Given the description of an element on the screen output the (x, y) to click on. 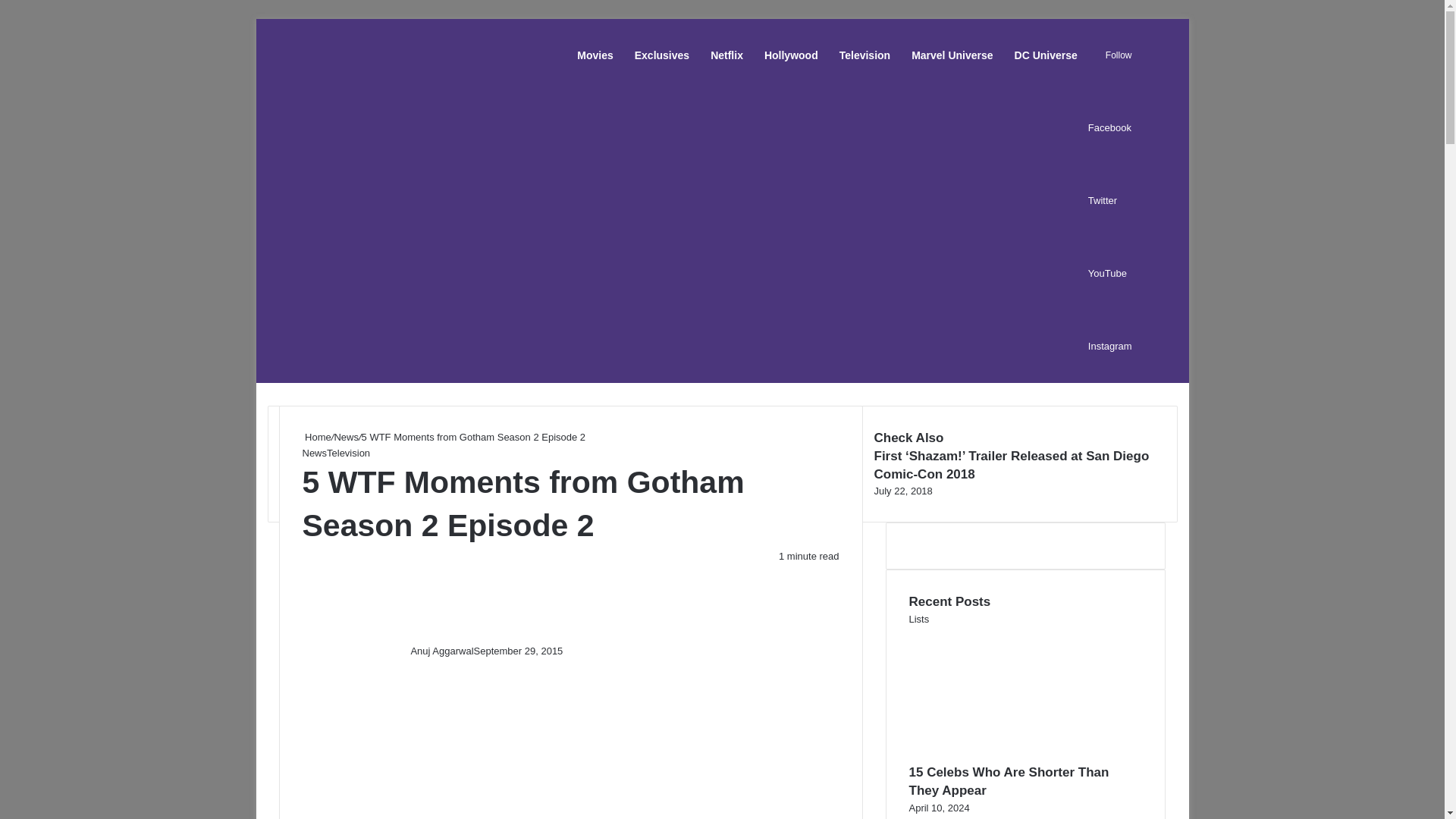
Exclusives (662, 54)
News (313, 452)
Twitter (1101, 200)
Hollywood (791, 54)
Home (315, 437)
News (345, 437)
Anuj Aggarwal (441, 650)
YouTube (1106, 273)
Television (347, 452)
Television (864, 54)
Facebook (1109, 127)
Anuj Aggarwal (441, 650)
Marvel Universe (952, 54)
DC Universe (1045, 54)
Instagram (1109, 346)
